Given the description of an element on the screen output the (x, y) to click on. 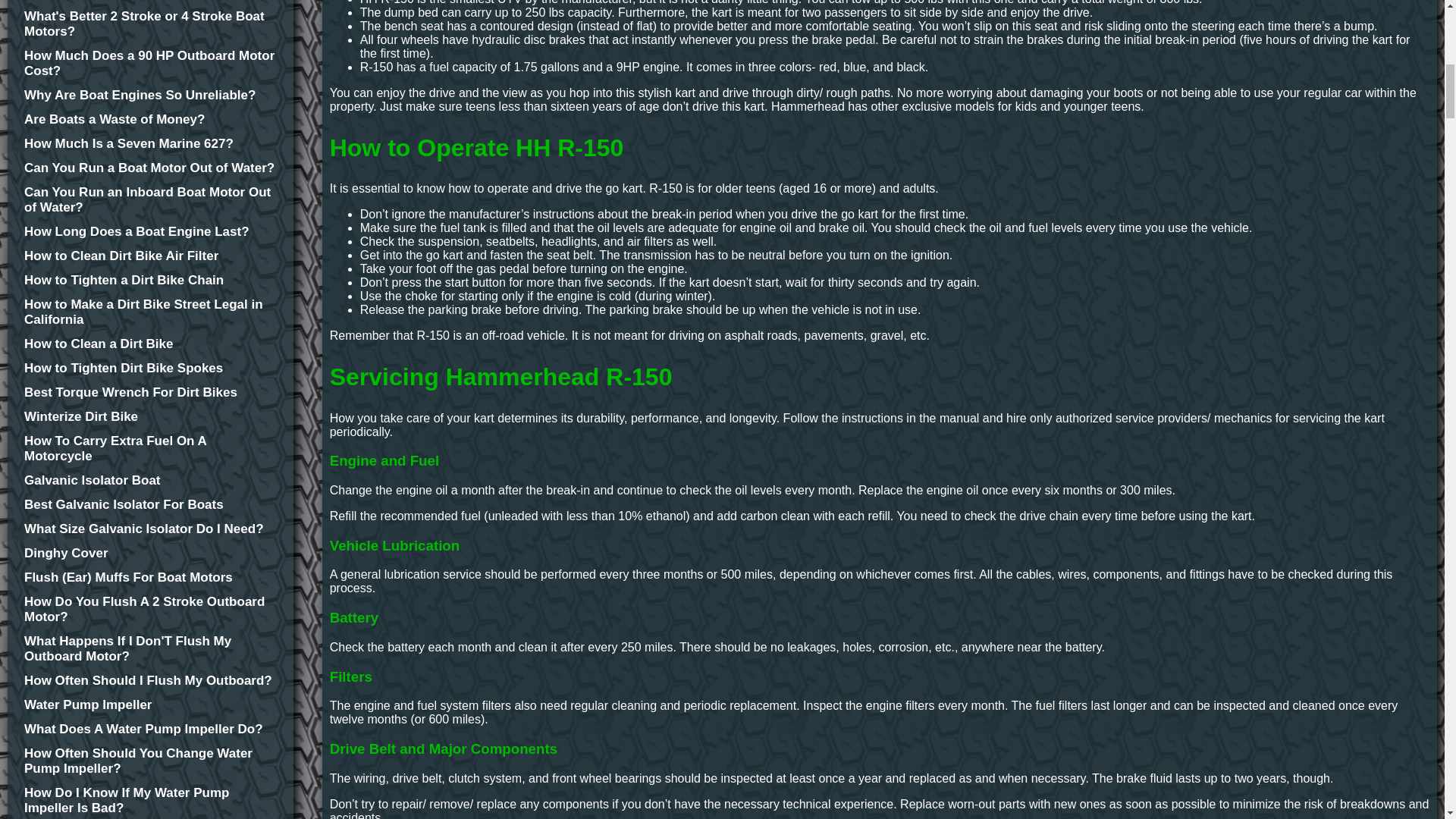
How Much Is a Seven Marine 627? (149, 143)
How to Tighten a Dirt Bike Chain (149, 280)
Can You Run a Boat Motor Out of Water? (149, 168)
How Much Does a 90 HP Outboard Motor Cost? (149, 63)
How to Clean Dirt Bike Air Filter (149, 255)
Why Are Boat Engines So Unreliable? (149, 95)
Are Boats a Waste of Money? (149, 119)
How Long Does a Boat Engine Last? (149, 231)
What's Better 2 Stroke or 4 Stroke Boat Motors? (149, 24)
Can You Run an Inboard Boat Motor Out of Water? (149, 200)
